Given the description of an element on the screen output the (x, y) to click on. 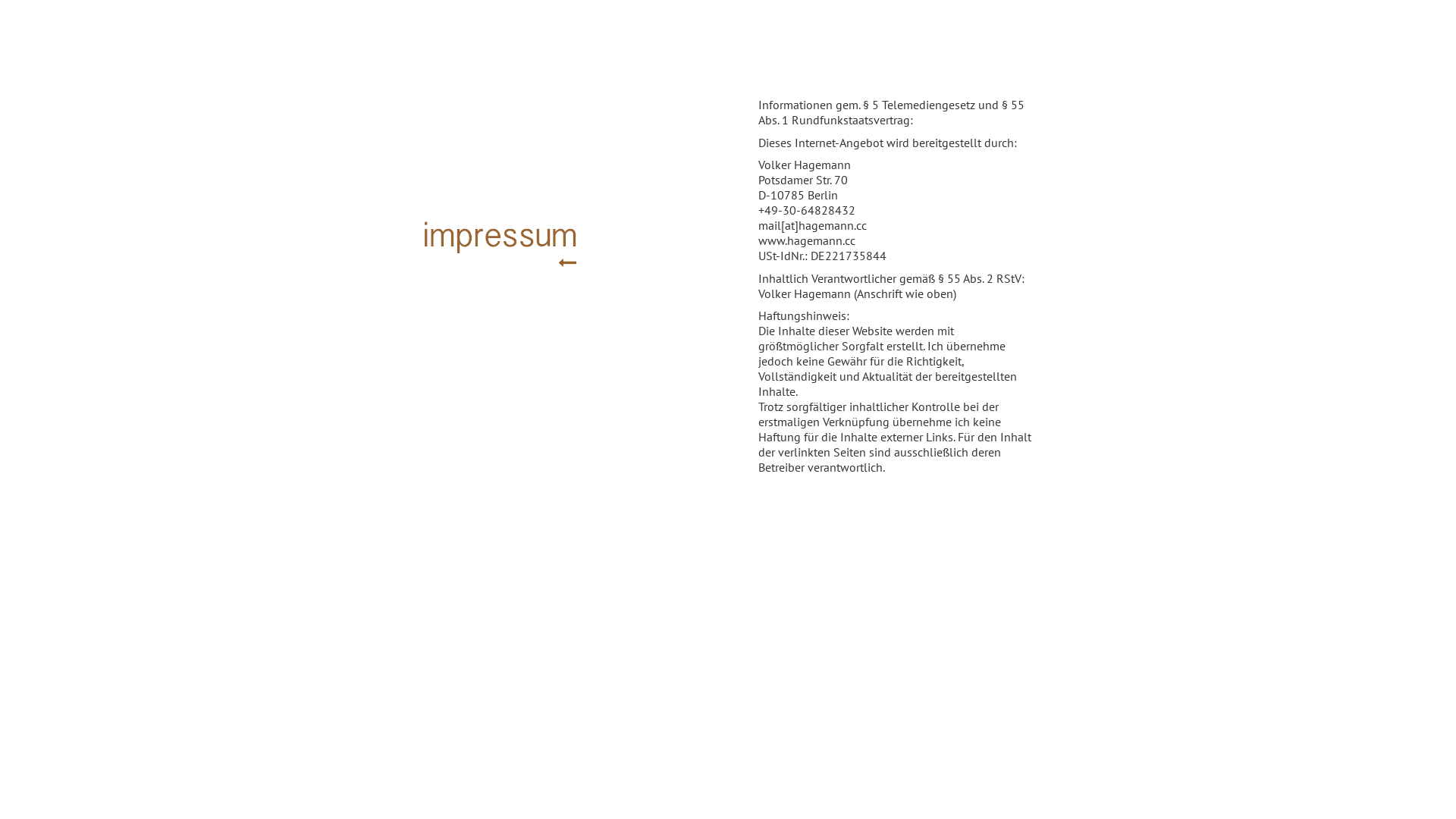
Startseite Element type: hover (567, 262)
www.hagemann.cc Element type: text (806, 239)
mail[at]hagemann.cc Element type: text (812, 224)
